Given the description of an element on the screen output the (x, y) to click on. 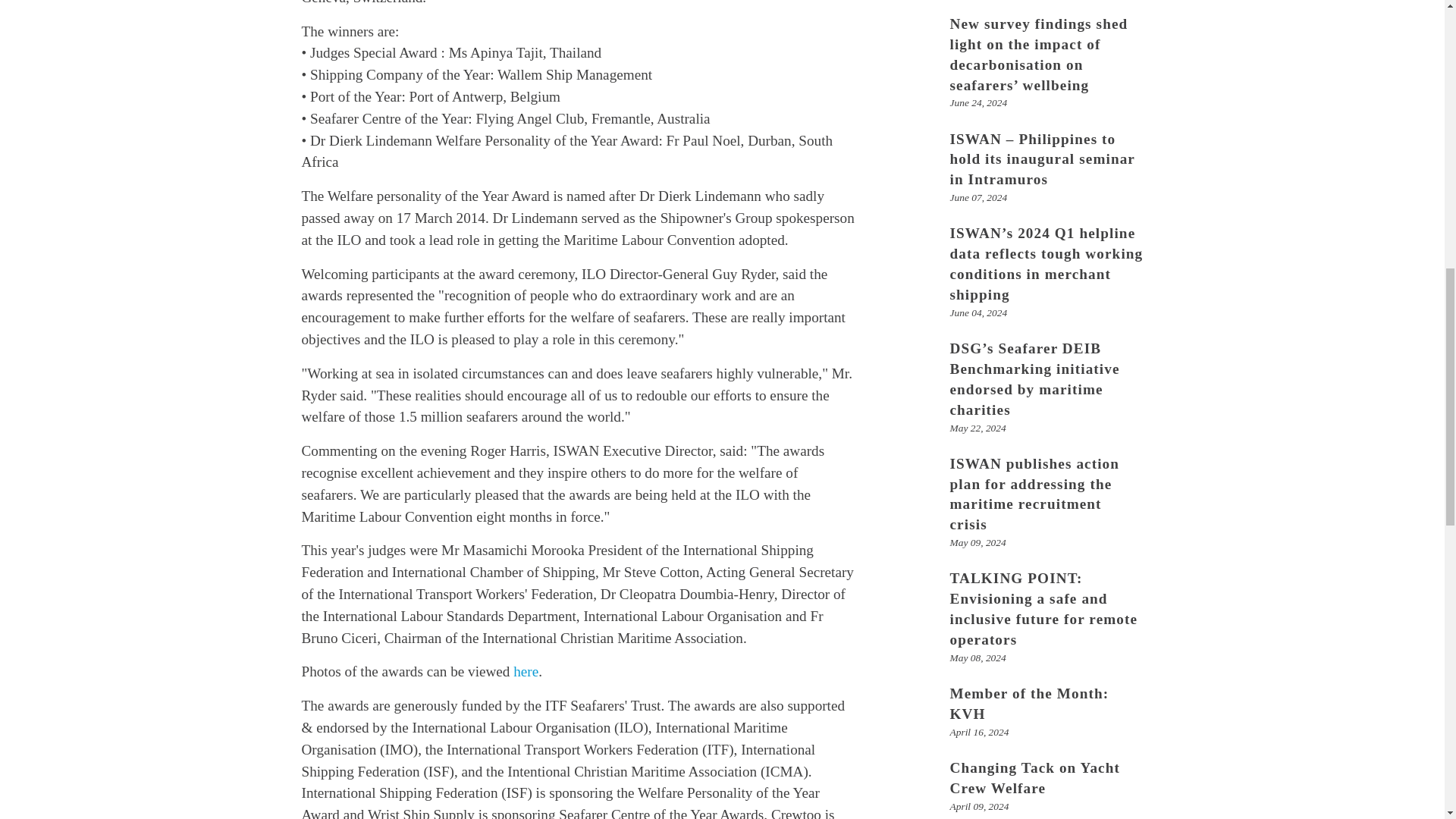
here (525, 671)
